Given the description of an element on the screen output the (x, y) to click on. 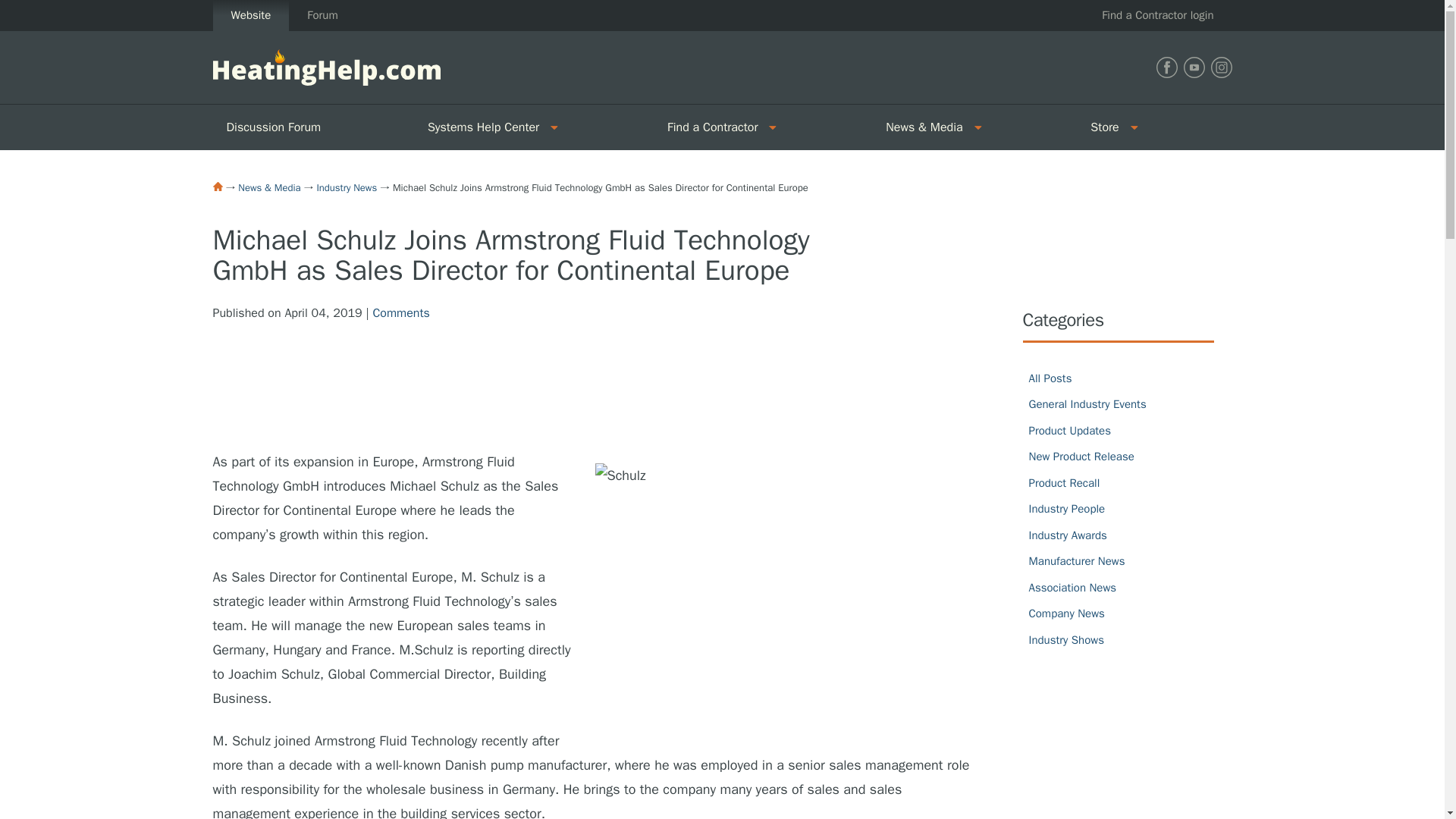
Find Heating Help on Youtube (1193, 66)
Forum (321, 15)
Find a Contractor login (1157, 15)
Home (217, 185)
Find Heating Help on Facebook (1166, 66)
Discussion Forum (312, 126)
Find Heating Help on Instagram (1220, 66)
Skip to Content (40, 9)
Systems Help Center (478, 126)
Website (250, 15)
